Given the description of an element on the screen output the (x, y) to click on. 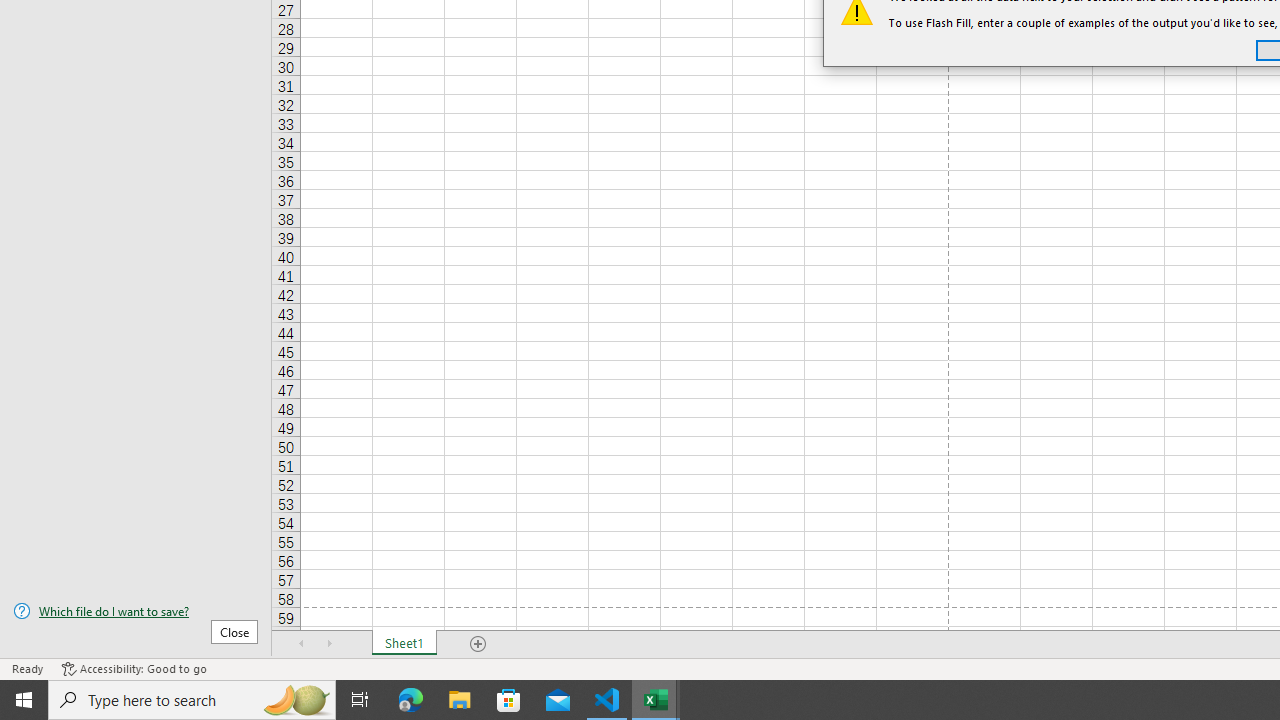
Task View (359, 699)
File Explorer (460, 699)
Search highlights icon opens search home window (295, 699)
Start (24, 699)
Visual Studio Code - 1 running window (607, 699)
Excel - 2 running windows (656, 699)
Type here to search (191, 699)
Microsoft Store (509, 699)
